Given the description of an element on the screen output the (x, y) to click on. 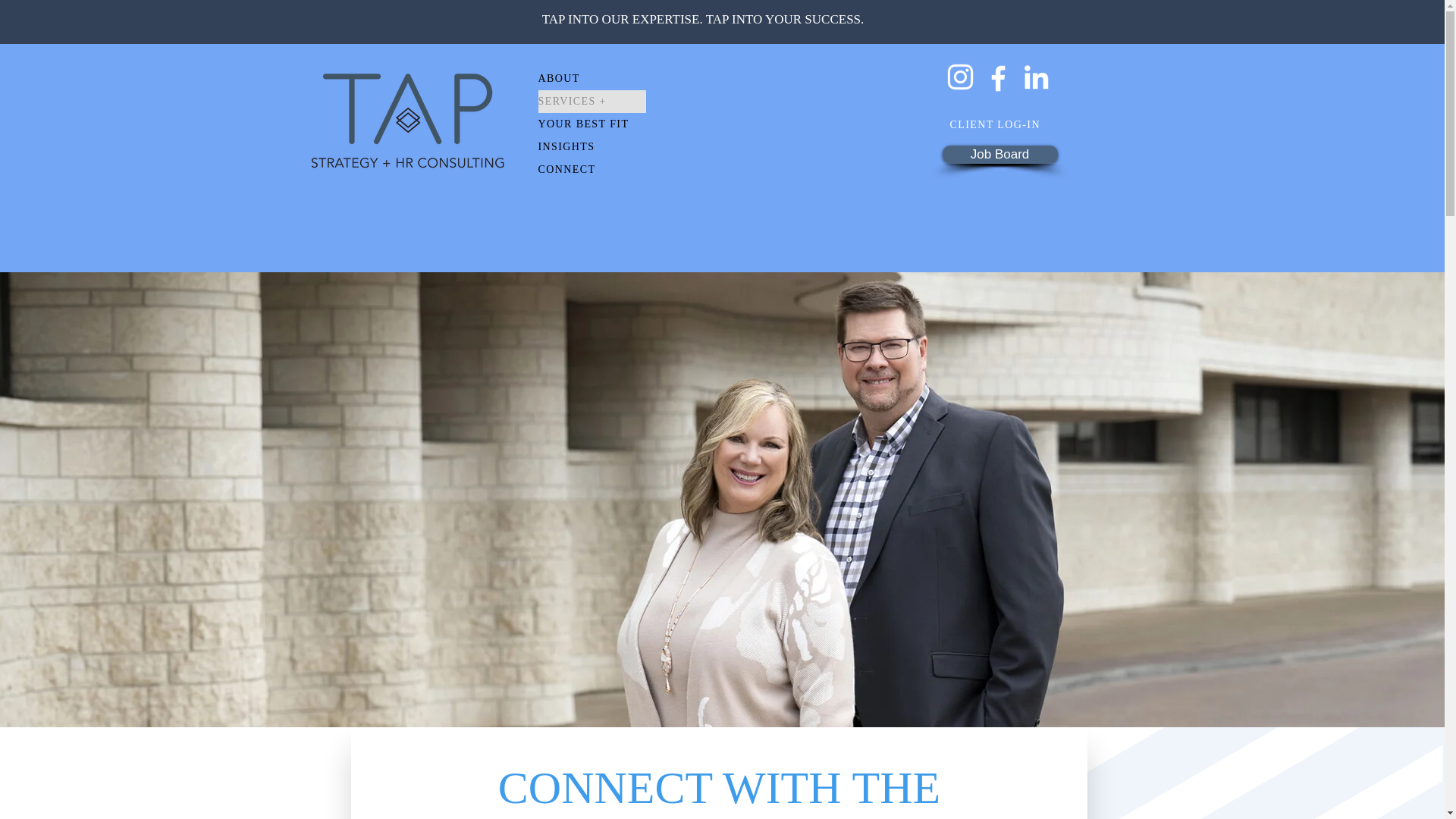
YOUR BEST FIT (592, 124)
CONNECT (592, 169)
INSIGHTS (592, 146)
Job Board (999, 154)
CLIENT LOG-IN (1003, 124)
ABOUT (592, 78)
